Given the description of an element on the screen output the (x, y) to click on. 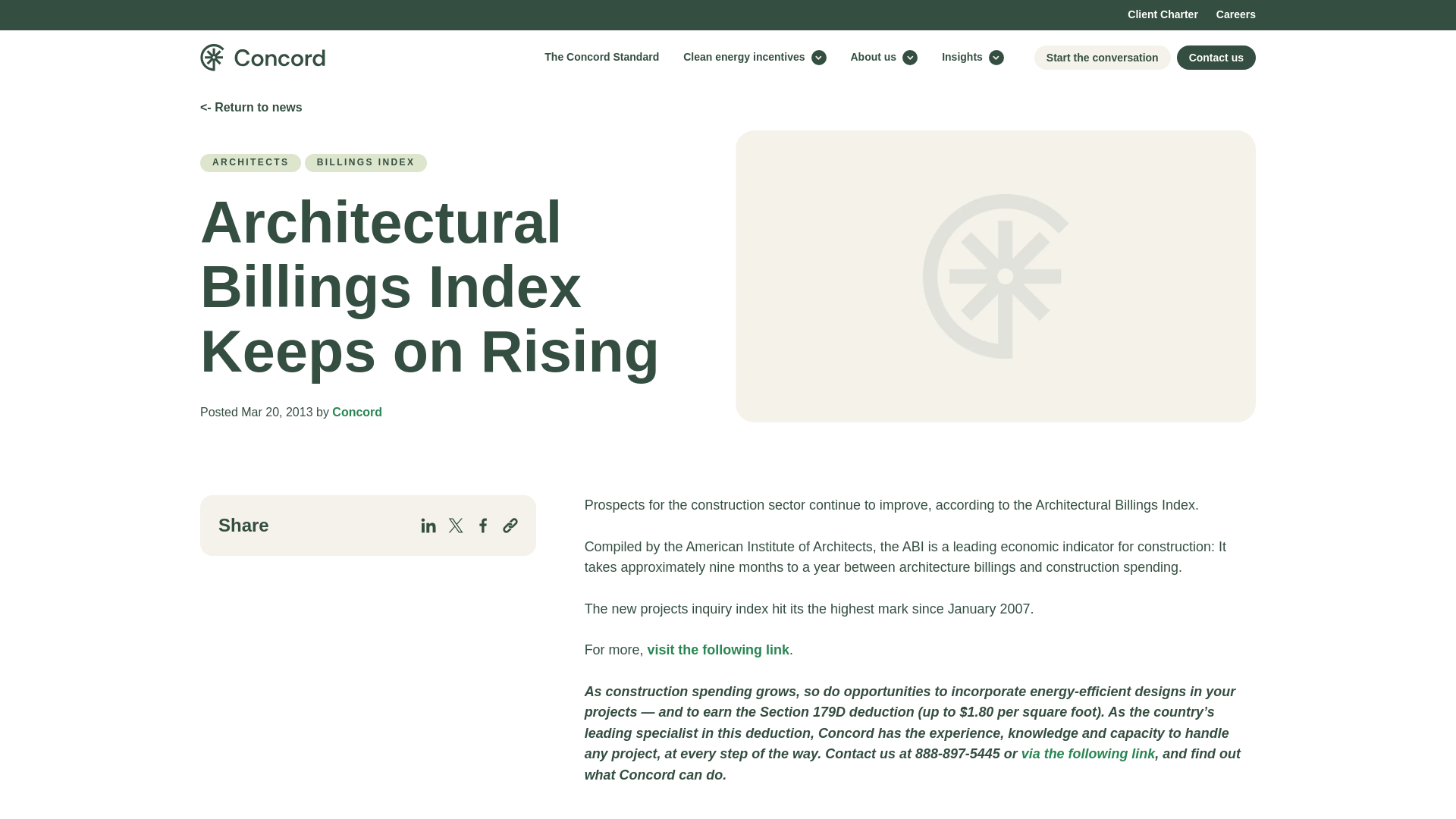
Contact us (1215, 57)
BILLINGS INDEX (366, 162)
Concord (356, 411)
Clean energy incentives (754, 56)
Client Charter (1162, 14)
Insights (973, 56)
ARCHITECTS (250, 162)
Start the conversation (1101, 57)
Careers (1235, 14)
via the following link (1089, 753)
